Given the description of an element on the screen output the (x, y) to click on. 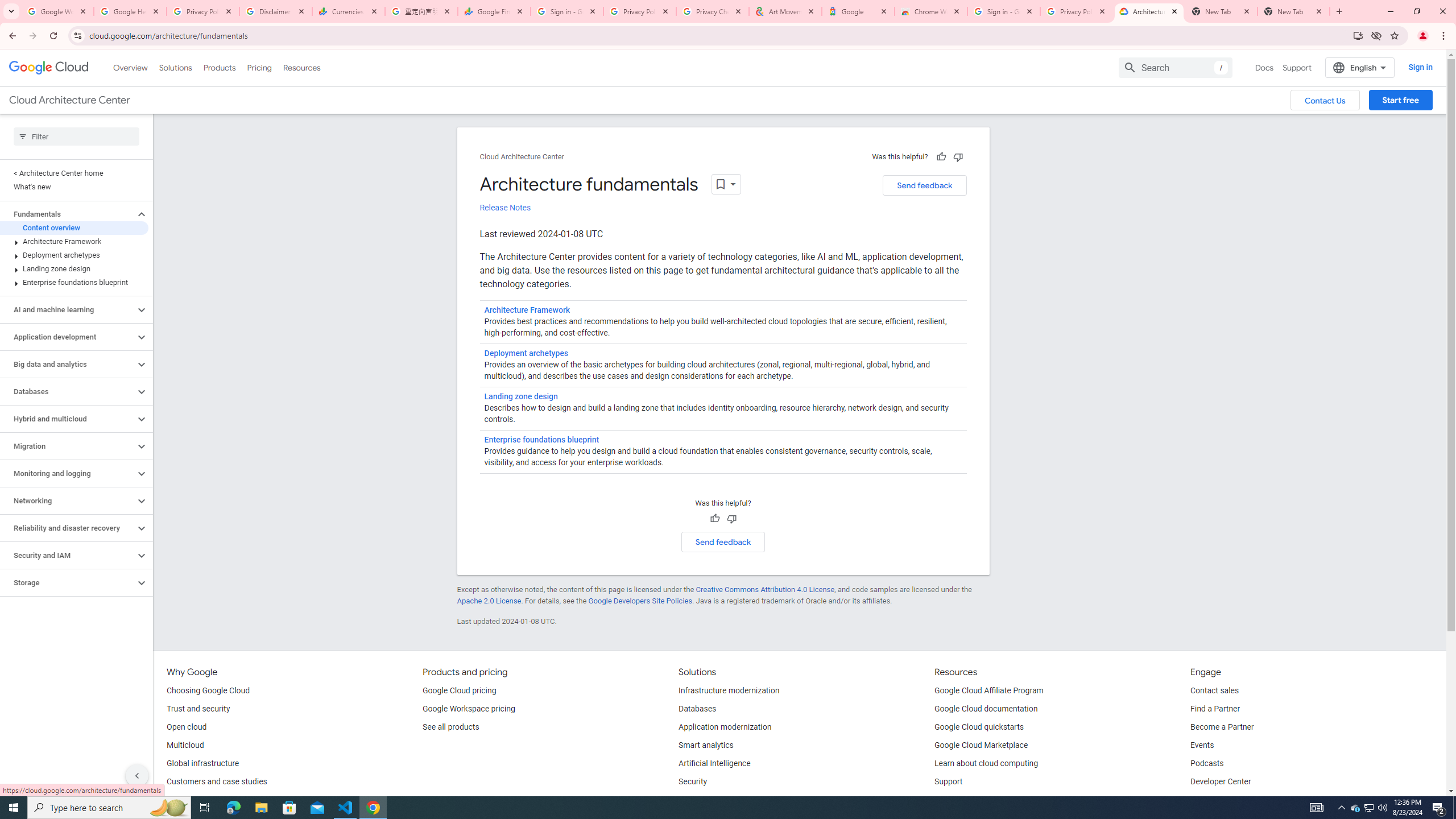
Content overview (74, 228)
Code samples (959, 800)
Currencies - Google Finance (348, 11)
Chrome Web Store - Color themes by Chrome (930, 11)
Hide side navigation (136, 775)
Infrastructure modernization (729, 691)
Google Cloud Affiliate Program (988, 691)
What's new (74, 187)
Security and IAM (67, 555)
Architecture Framework (74, 241)
Press Corner (1213, 800)
Google Workspace Admin Community (57, 11)
Application modernization (724, 727)
Customers and case studies (216, 782)
